Given the description of an element on the screen output the (x, y) to click on. 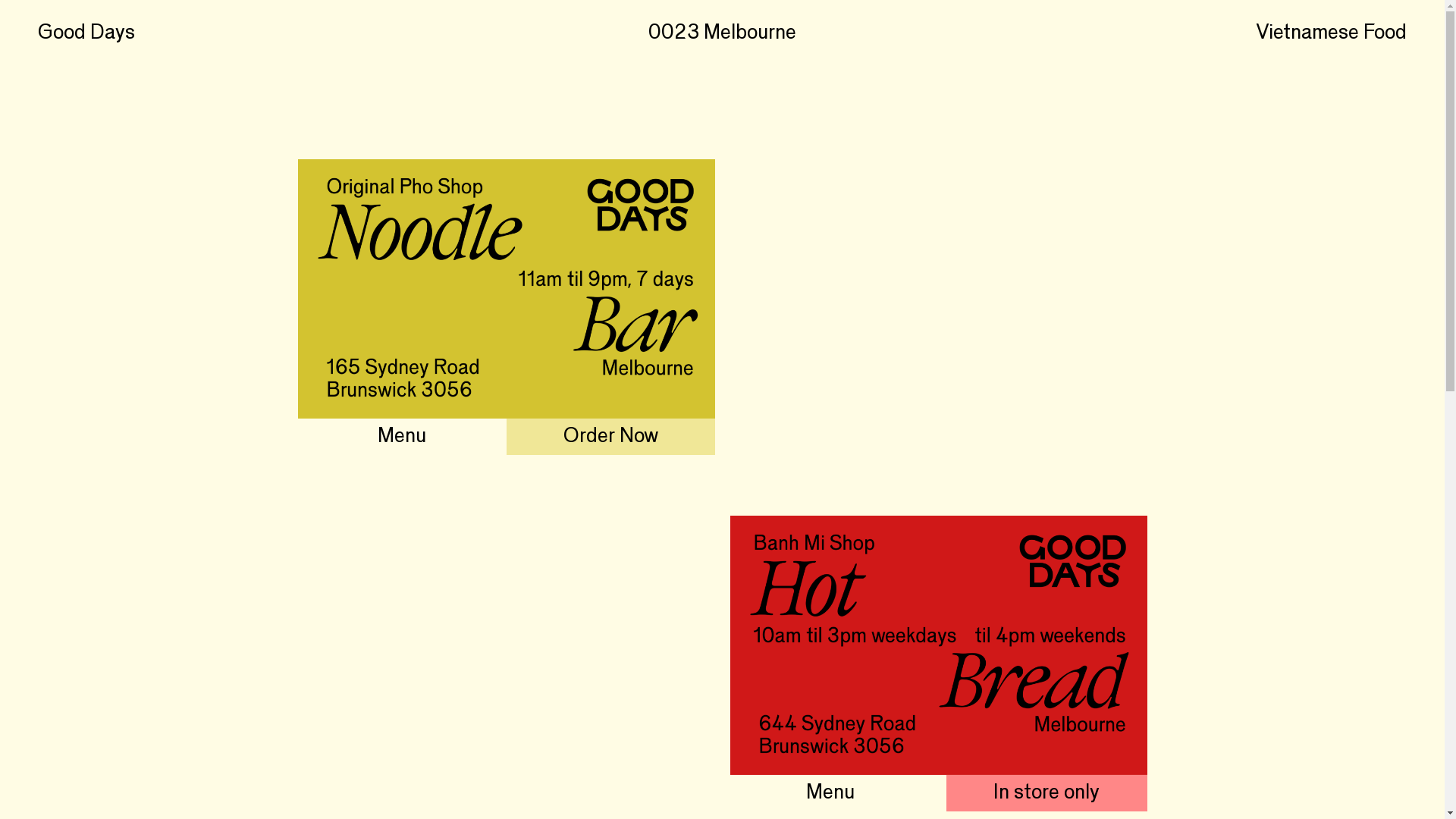
Menu Element type: text (401, 436)
Menu Element type: text (830, 793)
Good Days Element type: text (85, 33)
Order Now Element type: text (609, 436)
